Given the description of an element on the screen output the (x, y) to click on. 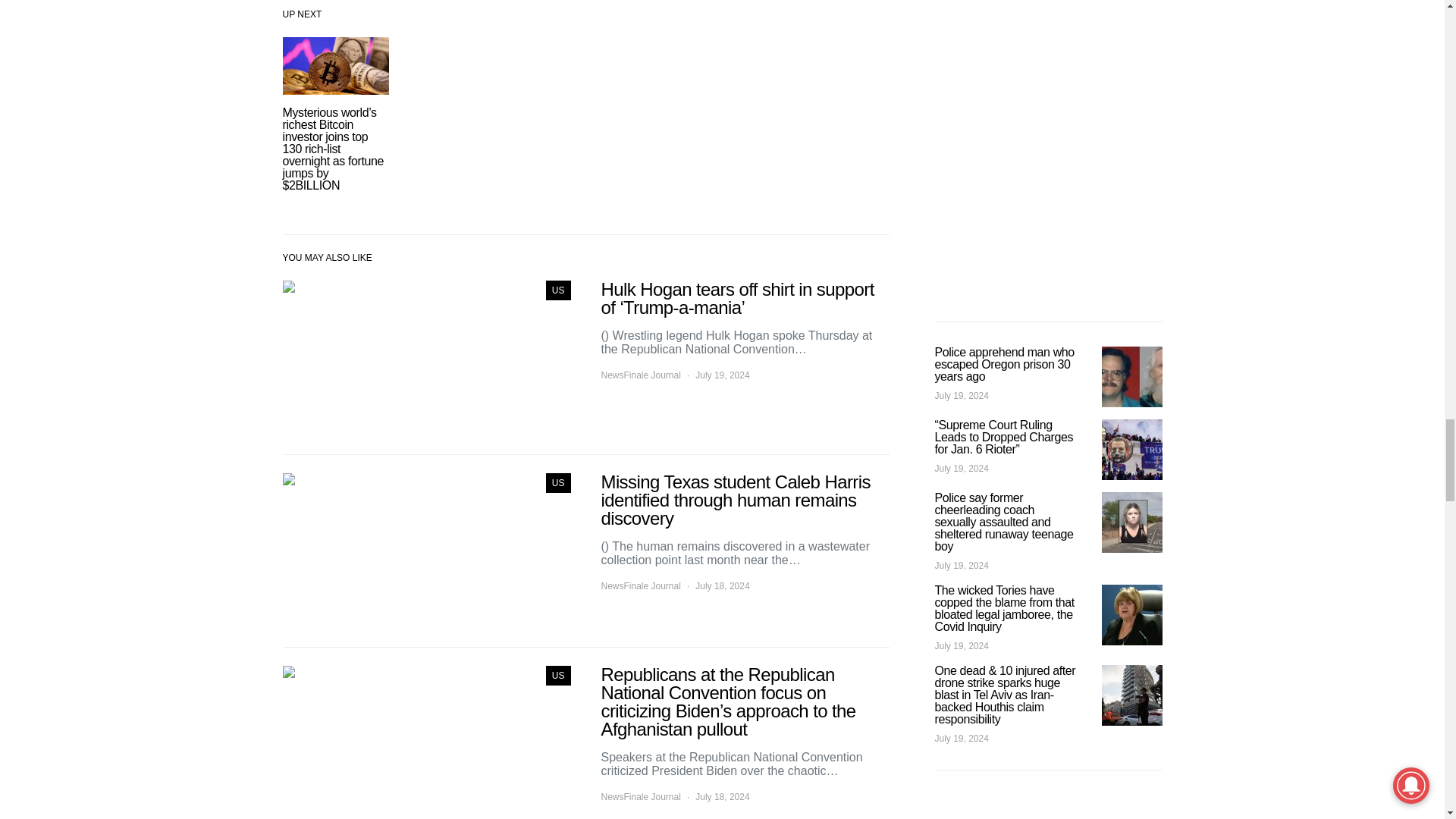
View all posts by NewsFinale Journal (639, 796)
View all posts by NewsFinale Journal (639, 585)
View all posts by NewsFinale Journal (639, 375)
